Given the description of an element on the screen output the (x, y) to click on. 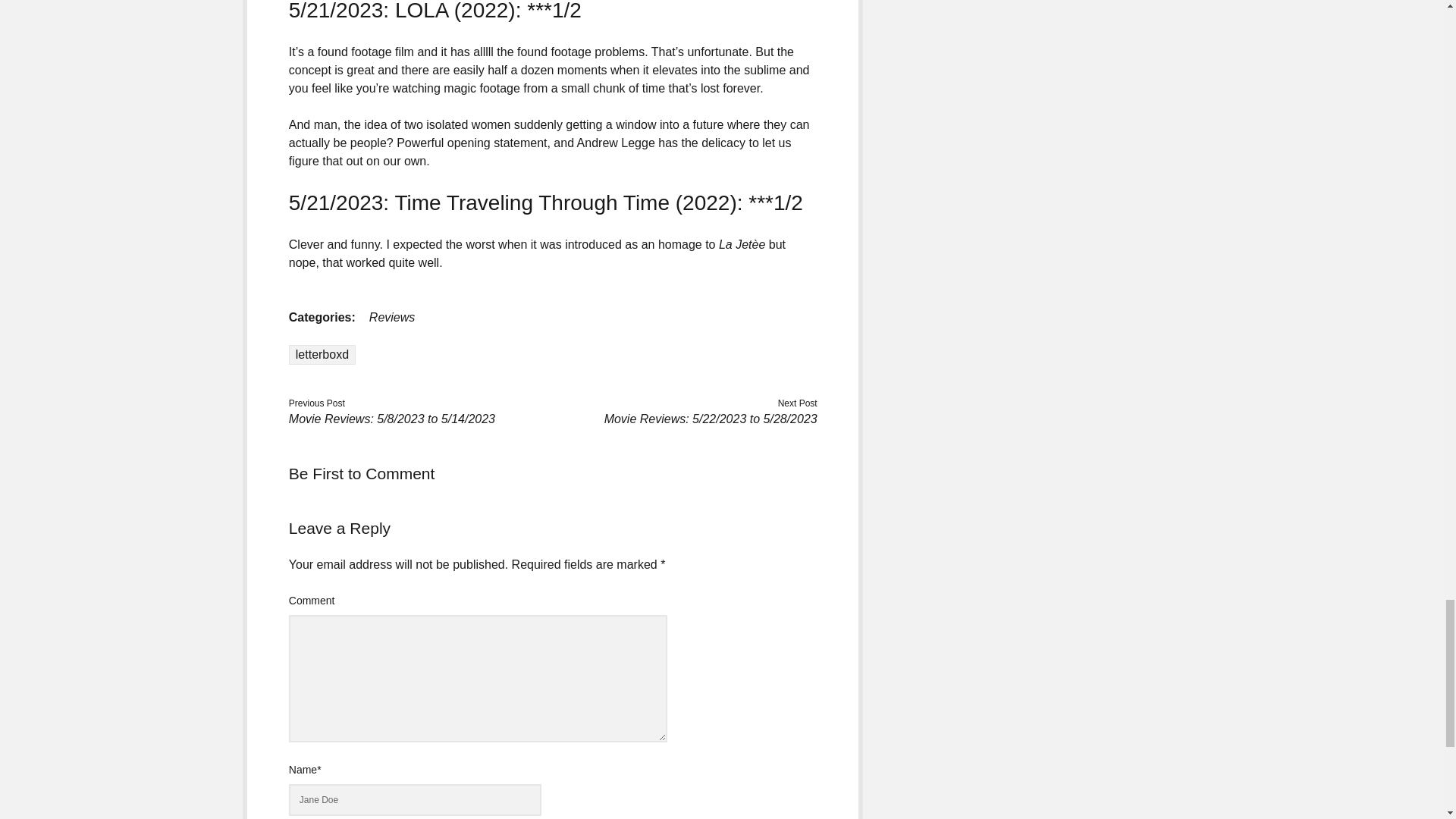
View all posts tagged letterboxd (321, 354)
letterboxd (321, 354)
Reviews (391, 317)
View all posts in Reviews (391, 317)
